Given the description of an element on the screen output the (x, y) to click on. 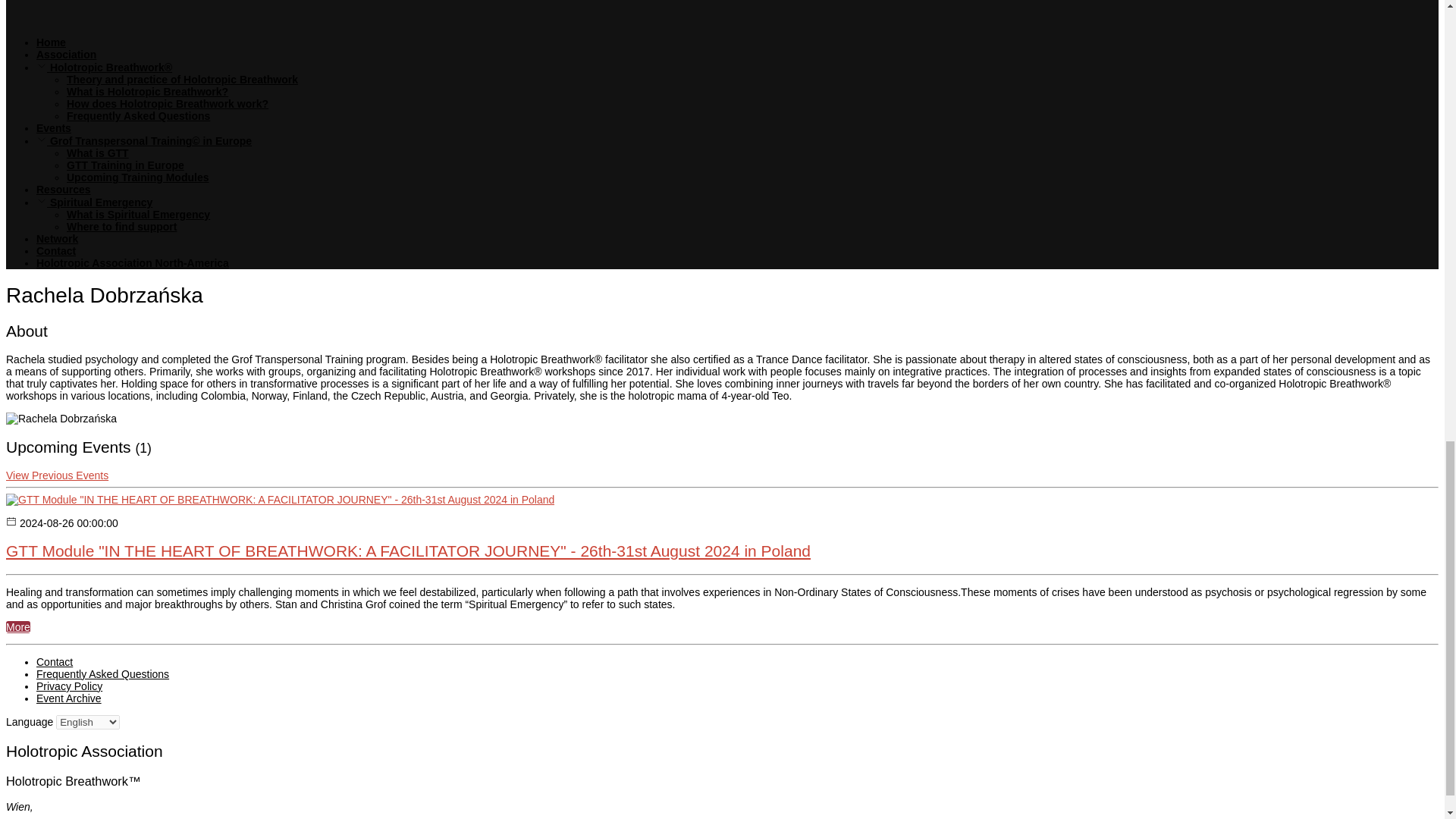
Theory and practice of Holotropic Breathwork (182, 79)
Frequently Asked Questions (137, 115)
What is Holotropic Breathwork? (147, 91)
Upcoming Training Modules (137, 177)
What is GTT (97, 152)
How does Holotropic Breathwork work? (166, 103)
Network (57, 238)
Resources (63, 189)
Home (50, 42)
Spiritual Emergency (94, 202)
Where to find support (121, 226)
GTT Training in Europe (125, 164)
Events (53, 128)
What is Spiritual Emergency (137, 214)
